Given the description of an element on the screen output the (x, y) to click on. 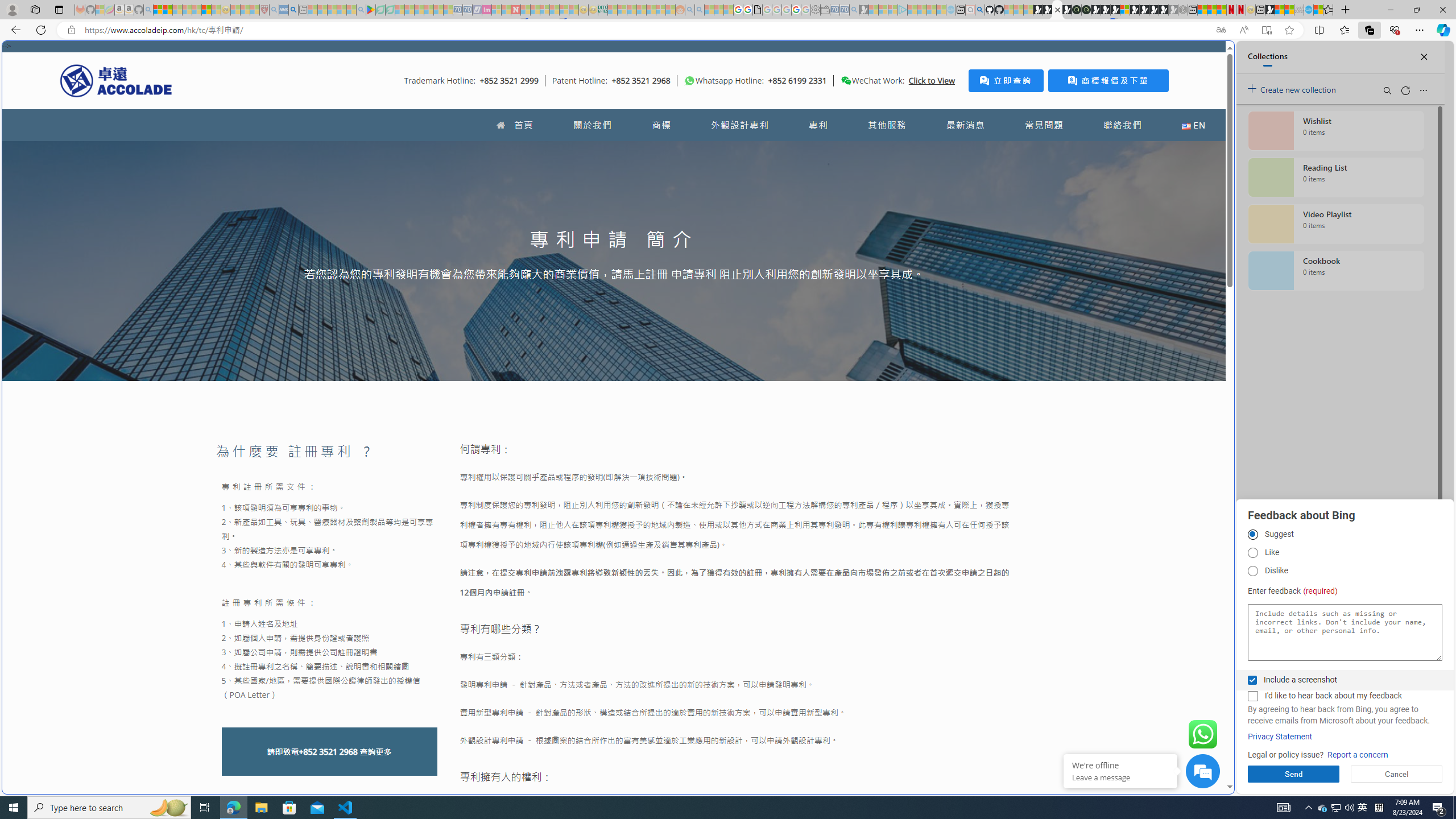
Send (1293, 773)
Play Zoo Boom in your browser | Games from Microsoft Start (1047, 9)
World - MSN (1279, 9)
